Given the description of an element on the screen output the (x, y) to click on. 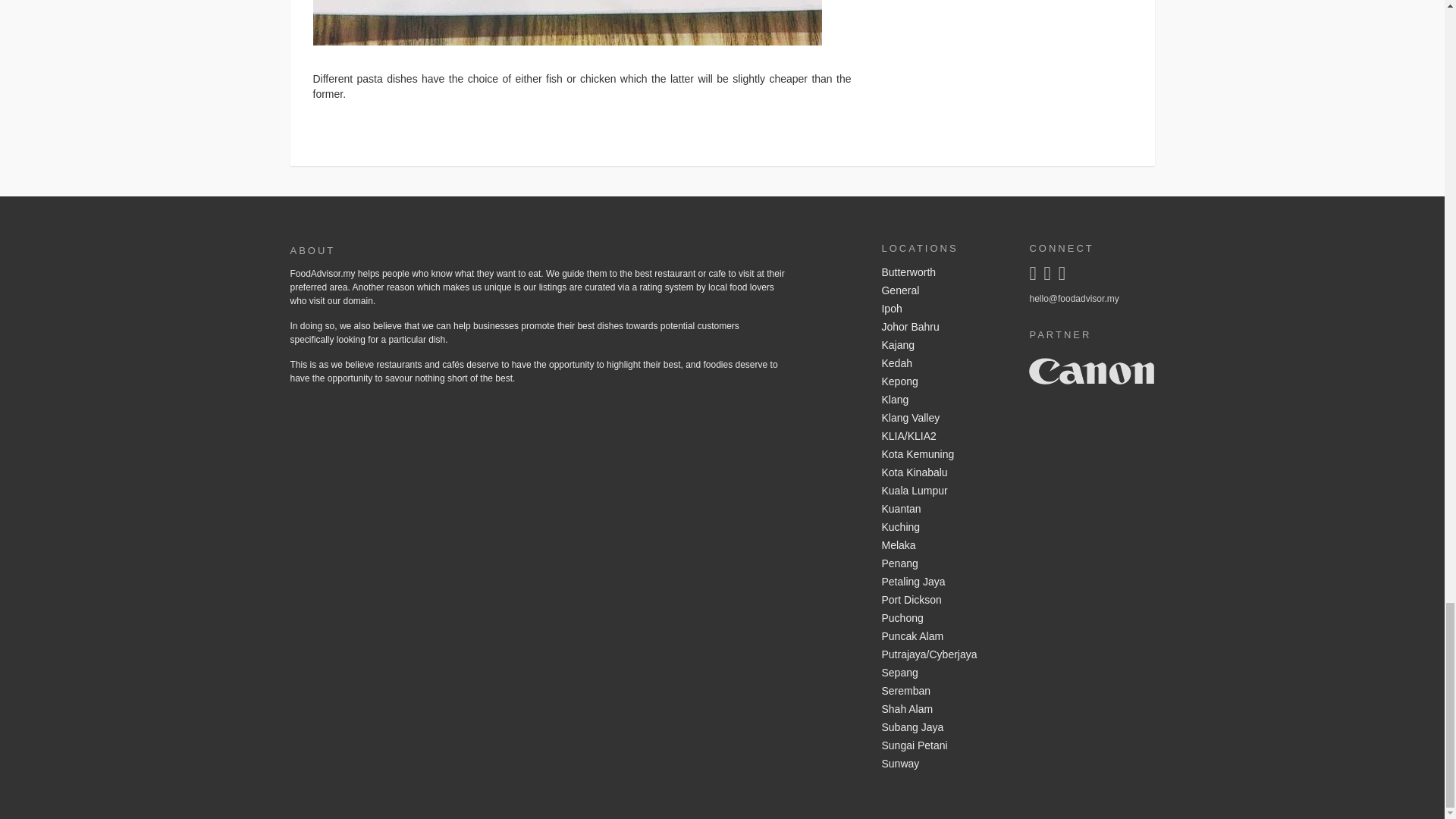
Klang Valley (943, 418)
Kuching (943, 527)
Kuantan (943, 509)
Kuala Lumpur (943, 491)
Kota Kemuning (943, 454)
Puchong (943, 618)
Johor Bahru (943, 327)
Klang (943, 400)
Kajang (943, 345)
Port Dickson (943, 600)
Penang (943, 564)
Melaka (943, 546)
Petaling Jaya (943, 582)
Kota Kinabalu (943, 473)
General (943, 290)
